Given the description of an element on the screen output the (x, y) to click on. 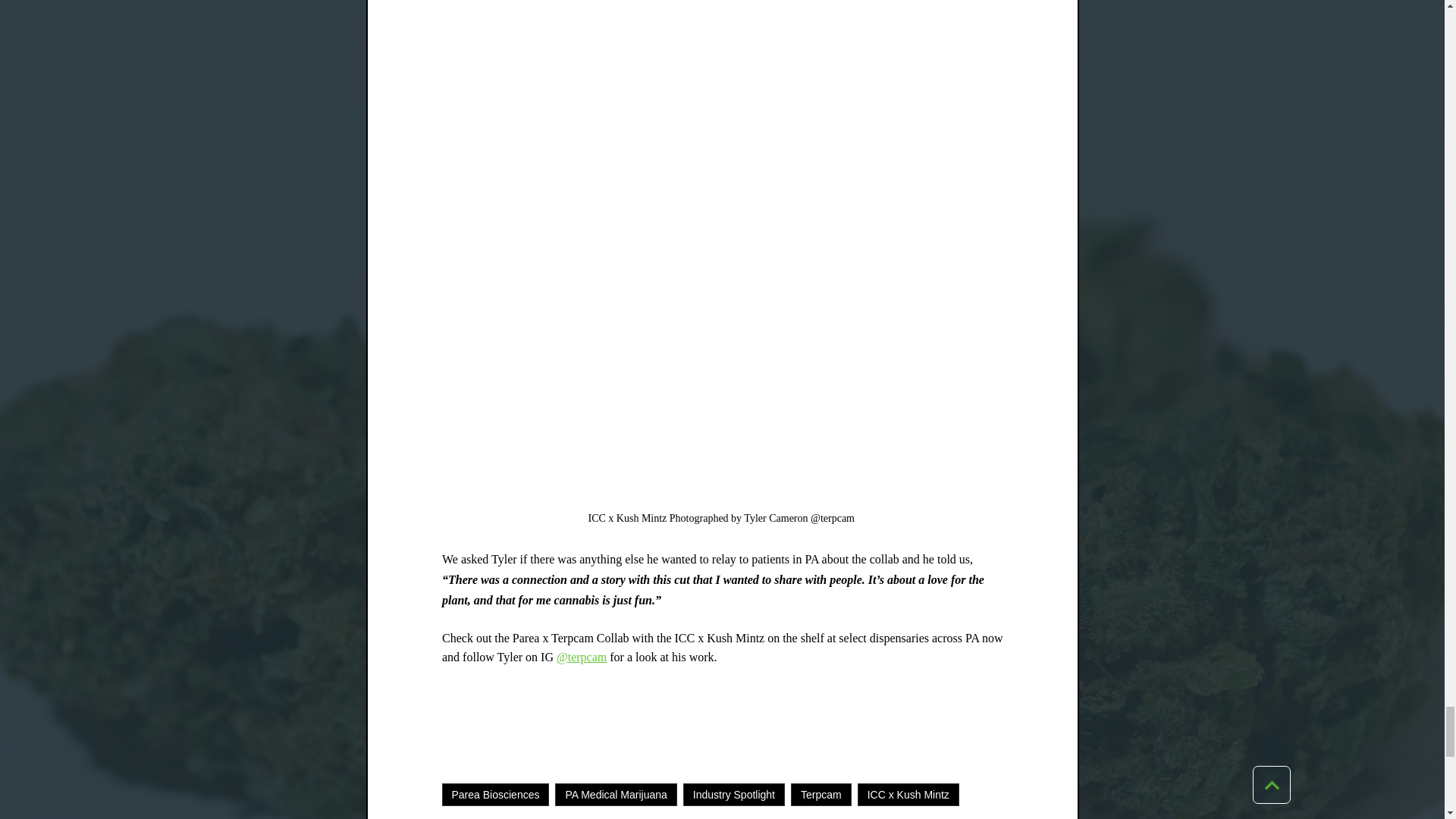
Parea Biosciences (494, 793)
ICC x Kush Mintz (908, 793)
Terpcam (820, 793)
PA Medical Marijuana (615, 793)
Industry Spotlight (733, 793)
